Given the description of an element on the screen output the (x, y) to click on. 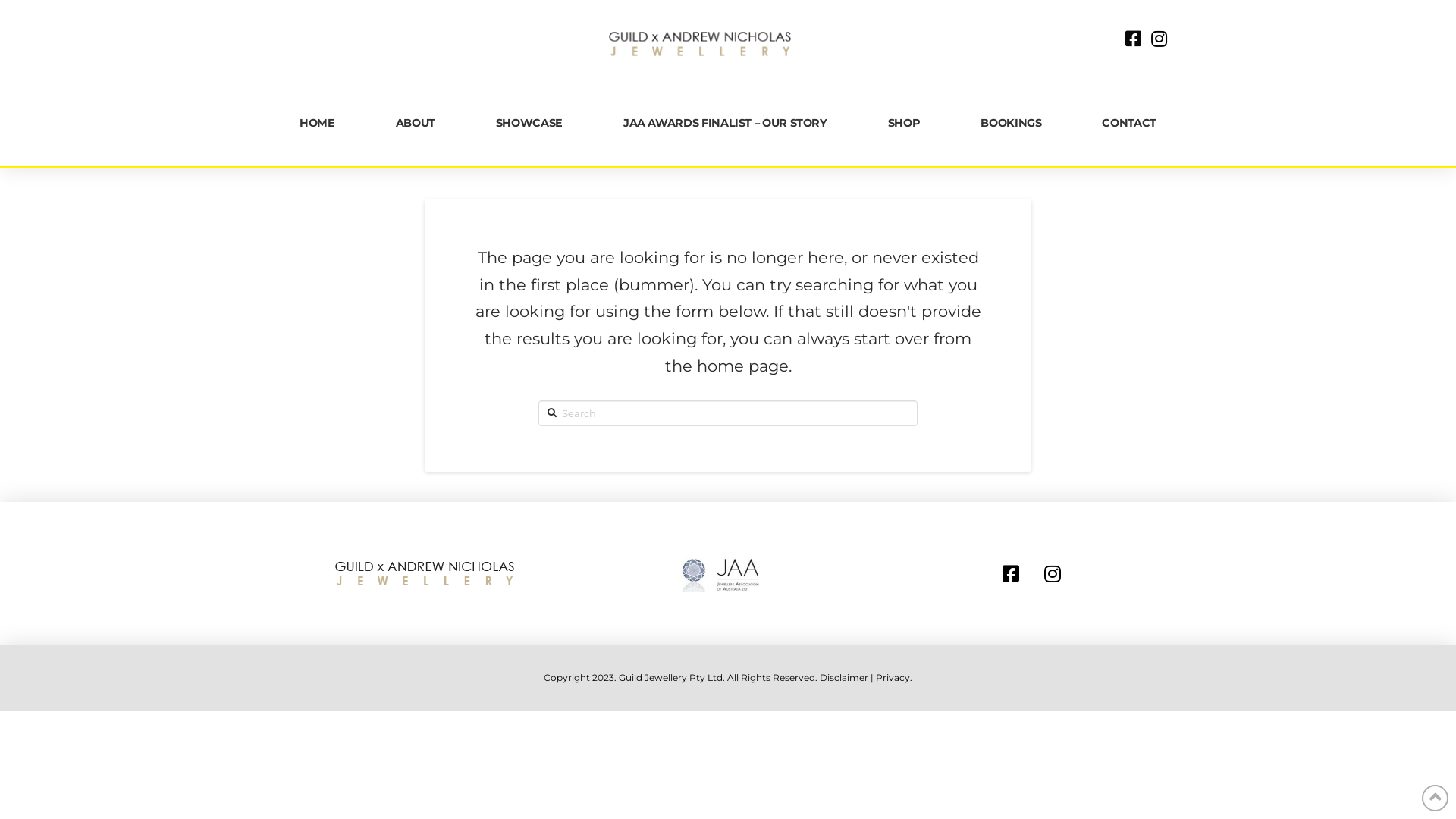
SHOWCASE Element type: text (528, 122)
BOOKINGS Element type: text (1010, 122)
ABOUT Element type: text (415, 122)
Back to Top Element type: hover (1434, 797)
SHOP Element type: text (903, 122)
Disclaimer Element type: text (843, 677)
HOME Element type: text (317, 122)
Privacy Element type: text (892, 677)
CONTACT Element type: text (1128, 122)
